Given the description of an element on the screen output the (x, y) to click on. 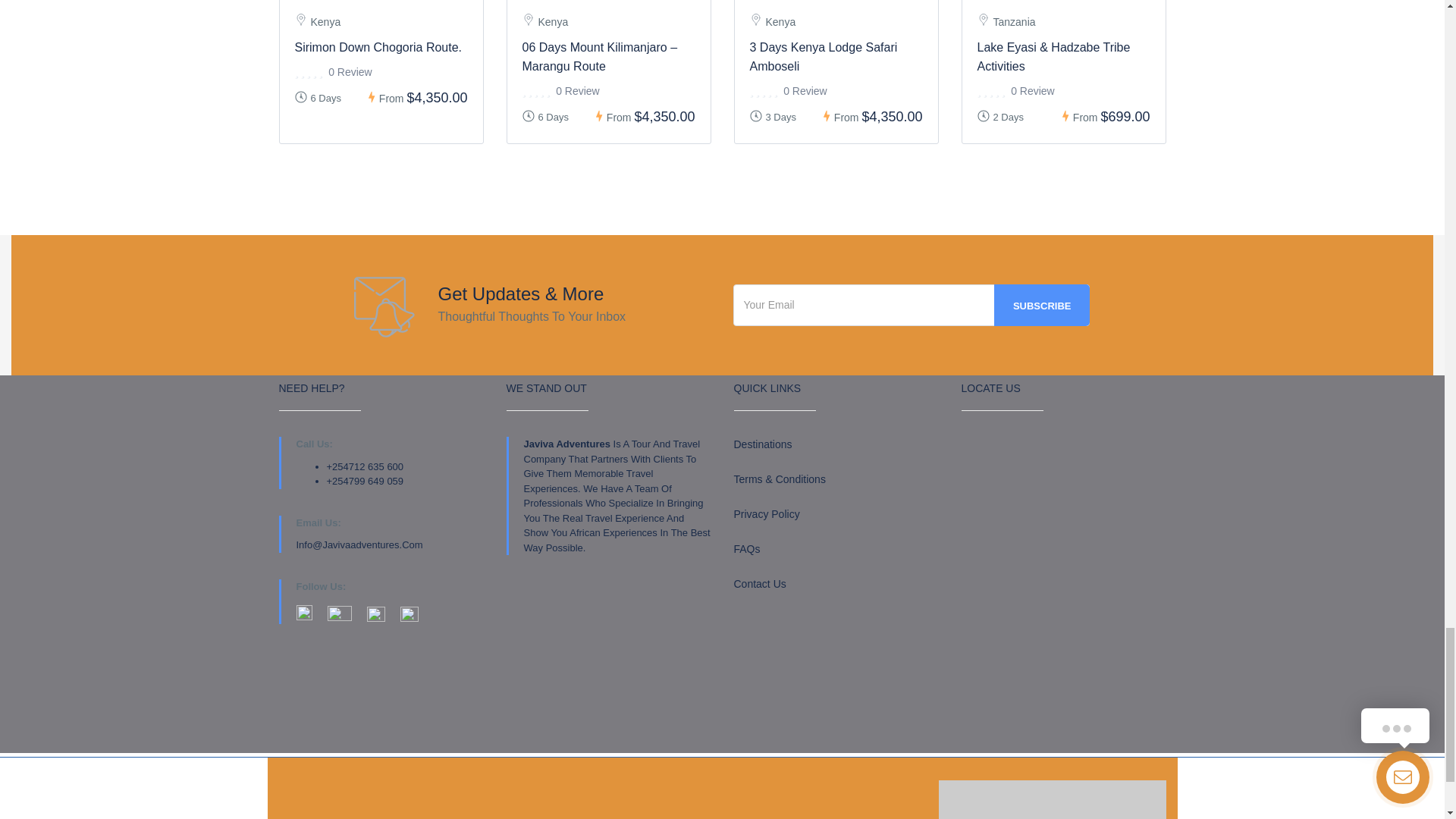
Subscribe (1042, 304)
